Given the description of an element on the screen output the (x, y) to click on. 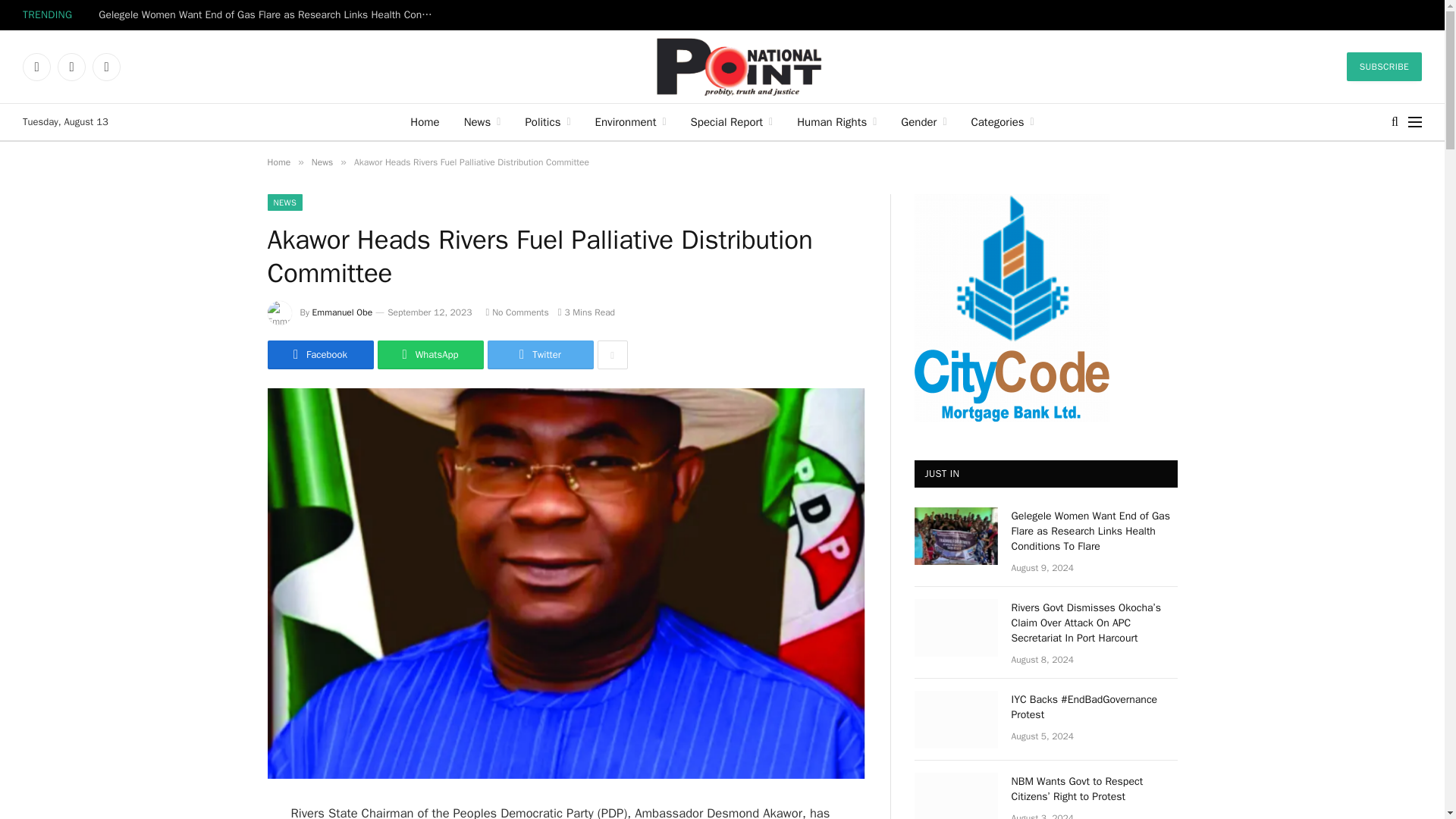
News (482, 122)
Home (424, 122)
SUBSCRIBE (1384, 66)
Facebook (36, 67)
Twitter (71, 67)
Instagram (106, 67)
